Given the description of an element on the screen output the (x, y) to click on. 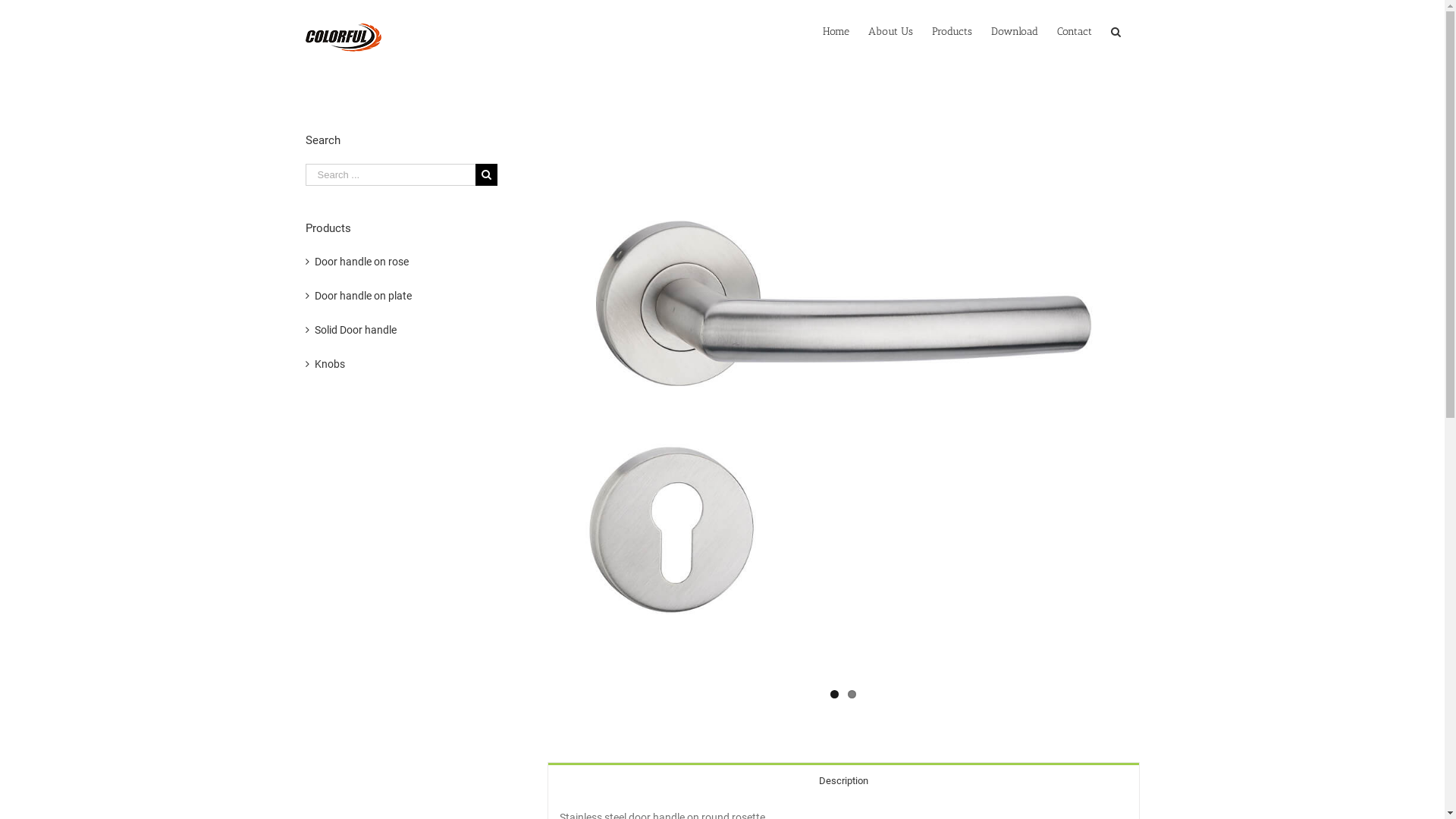
Download Element type: text (1013, 31)
Knobs Element type: text (328, 363)
About Us Element type: text (889, 31)
Door handle on plate Element type: text (362, 295)
Description Element type: text (842, 779)
Search Element type: hover (1115, 31)
Door handle on rose Element type: text (360, 261)
Products Element type: text (951, 31)
Contact Element type: text (1074, 31)
Home Element type: text (835, 31)
1 Element type: text (834, 694)
Solid Door handle Element type: text (354, 329)
2 Element type: text (851, 694)
View Larger Image Element type: text (843, 412)
